Given the description of an element on the screen output the (x, y) to click on. 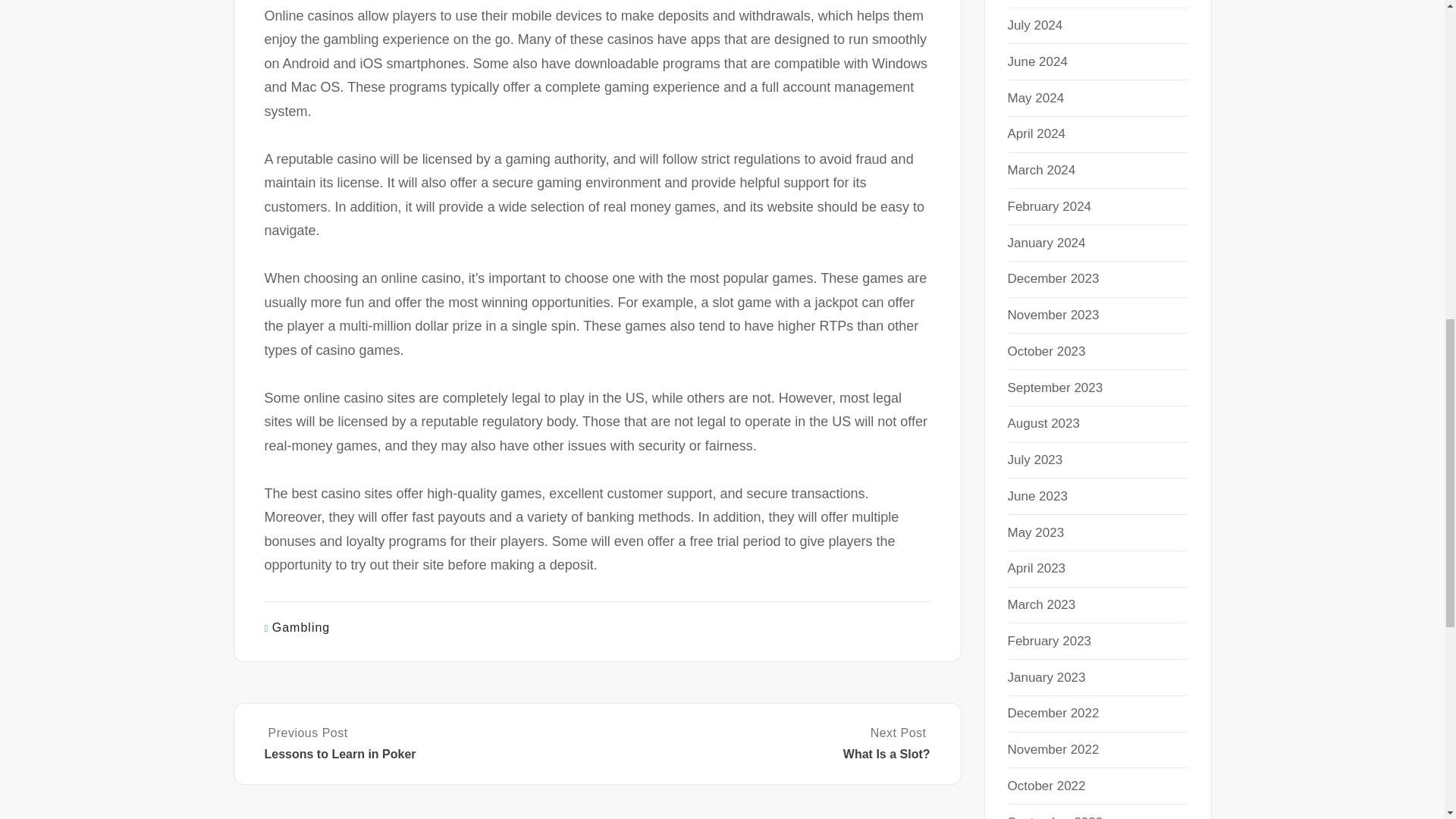
June 2024 (1037, 61)
September 2023 (1054, 387)
May 2023 (1035, 532)
May 2024 (1035, 97)
April 2023 (1036, 568)
November 2023 (1053, 314)
Gambling (301, 626)
October 2023 (1045, 350)
August 2023 (1042, 423)
December 2023 (1053, 278)
